Given the description of an element on the screen output the (x, y) to click on. 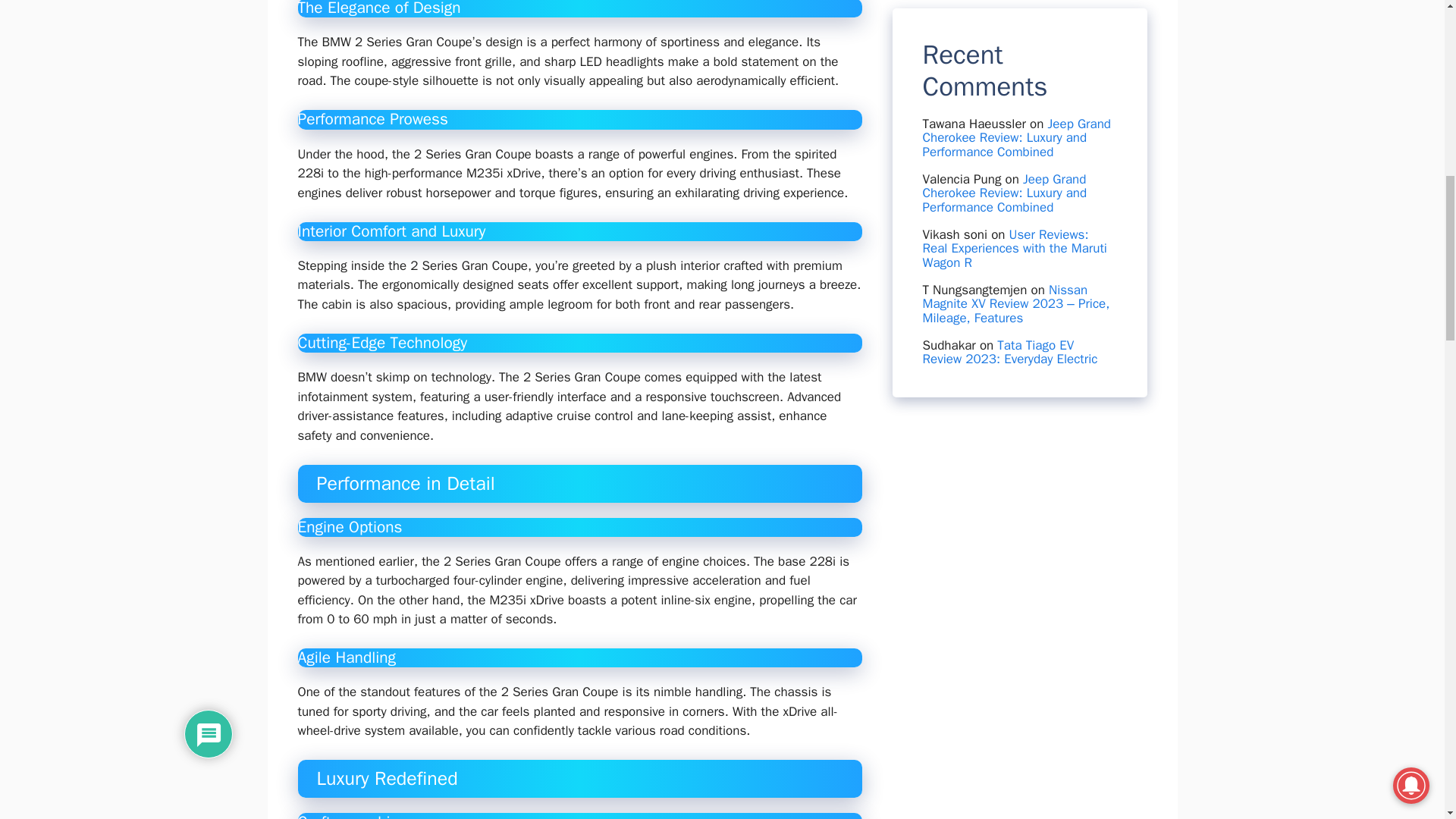
Tata Tiago EV Review 2023: Everyday Electric (1009, 93)
User Reviews: Real Experiences with the Maruti Wagon R (1013, 6)
